Given the description of an element on the screen output the (x, y) to click on. 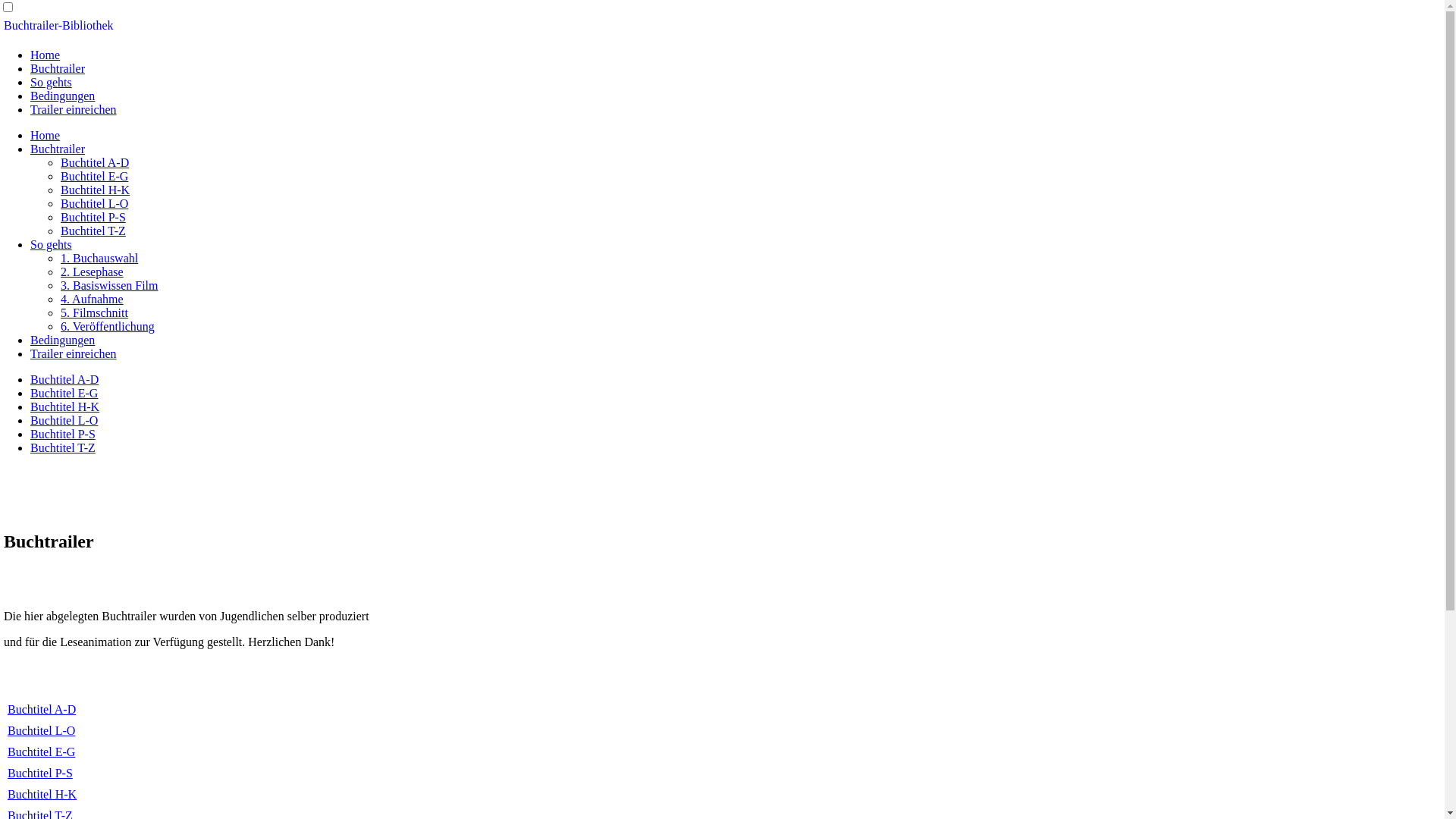
Buchtitel E-G Element type: text (94, 175)
Buchtrailer-Bibliothek Element type: text (58, 24)
Buchtitel T-Z Element type: text (62, 447)
Buchtitel H-K Element type: text (64, 406)
Trailer einreichen Element type: text (73, 109)
Buchtitel A-D Element type: text (41, 708)
Buchtitel P-S Element type: text (39, 772)
Buchtrailer Element type: text (57, 68)
Buchtitel H-K Element type: text (41, 793)
Buchtitel P-S Element type: text (92, 216)
Trailer einreichen Element type: text (73, 353)
Buchtitel H-K Element type: text (94, 189)
3. Basiswissen Film Element type: text (108, 285)
Buchtitel A-D Element type: text (94, 162)
So gehts Element type: text (51, 81)
Home Element type: text (44, 54)
Buchtitel P-S Element type: text (62, 433)
Buchtitel T-Z Element type: text (92, 230)
1. Buchauswahl Element type: text (99, 257)
Home Element type: text (44, 134)
Buchtitel E-G Element type: text (63, 392)
Buchtitel L-O Element type: text (41, 730)
Bedingungen Element type: text (62, 339)
5. Filmschnitt Element type: text (94, 312)
Bedingungen Element type: text (62, 95)
Buchtitel A-D Element type: text (64, 379)
Buchtitel L-O Element type: text (94, 203)
Buchtitel E-G Element type: text (41, 751)
So gehts Element type: text (51, 244)
Buchtitel L-O Element type: text (63, 420)
Buchtrailer Element type: text (57, 148)
4. Aufnahme Element type: text (91, 298)
2. Lesephase Element type: text (91, 271)
